Given the description of an element on the screen output the (x, y) to click on. 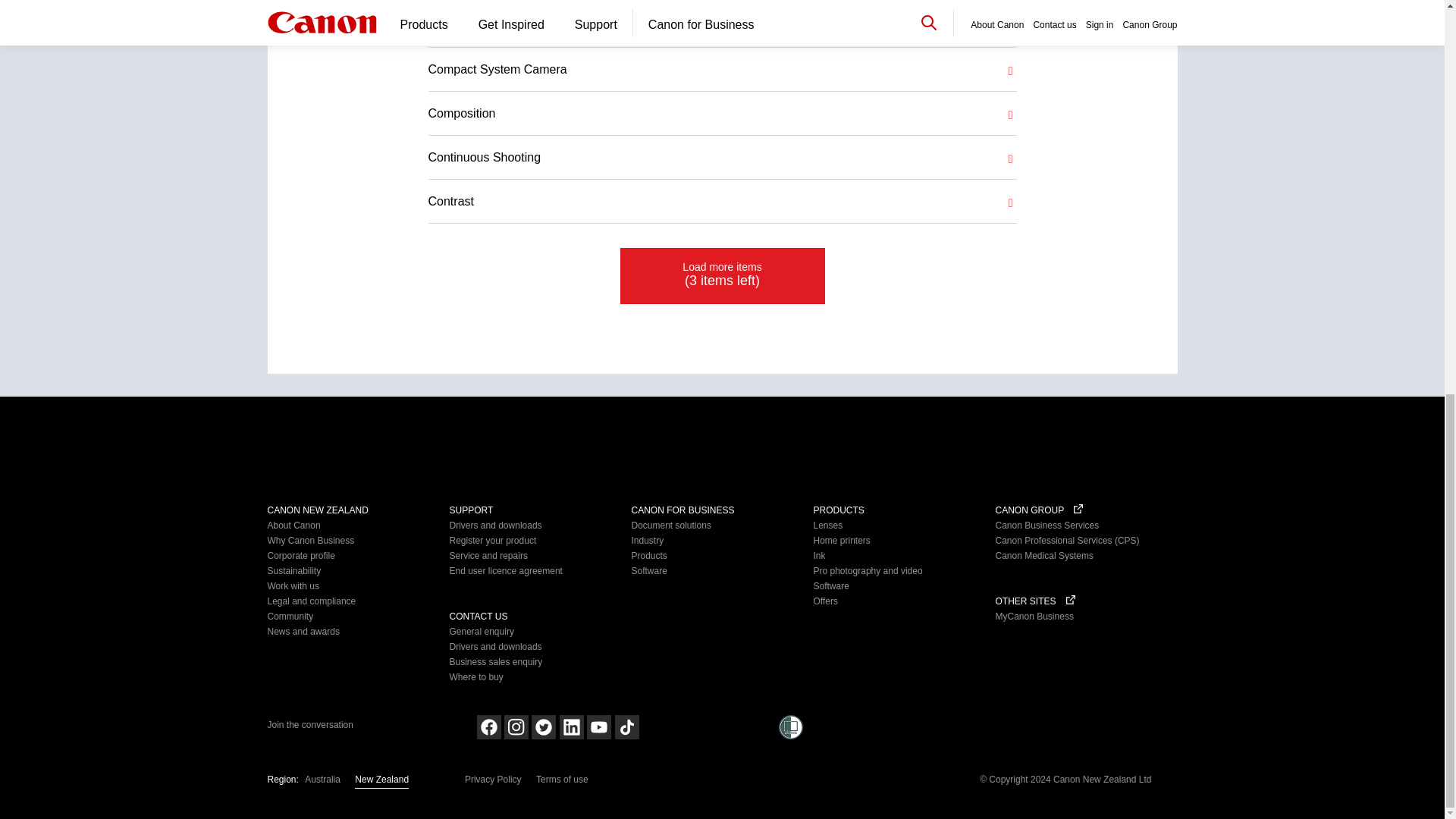
Follow on YouTube (598, 726)
Follow on LinkedIn (571, 726)
Follow on Twitter (543, 726)
Follow on Facebook (488, 726)
Follow on Instagram (515, 726)
